Given the description of an element on the screen output the (x, y) to click on. 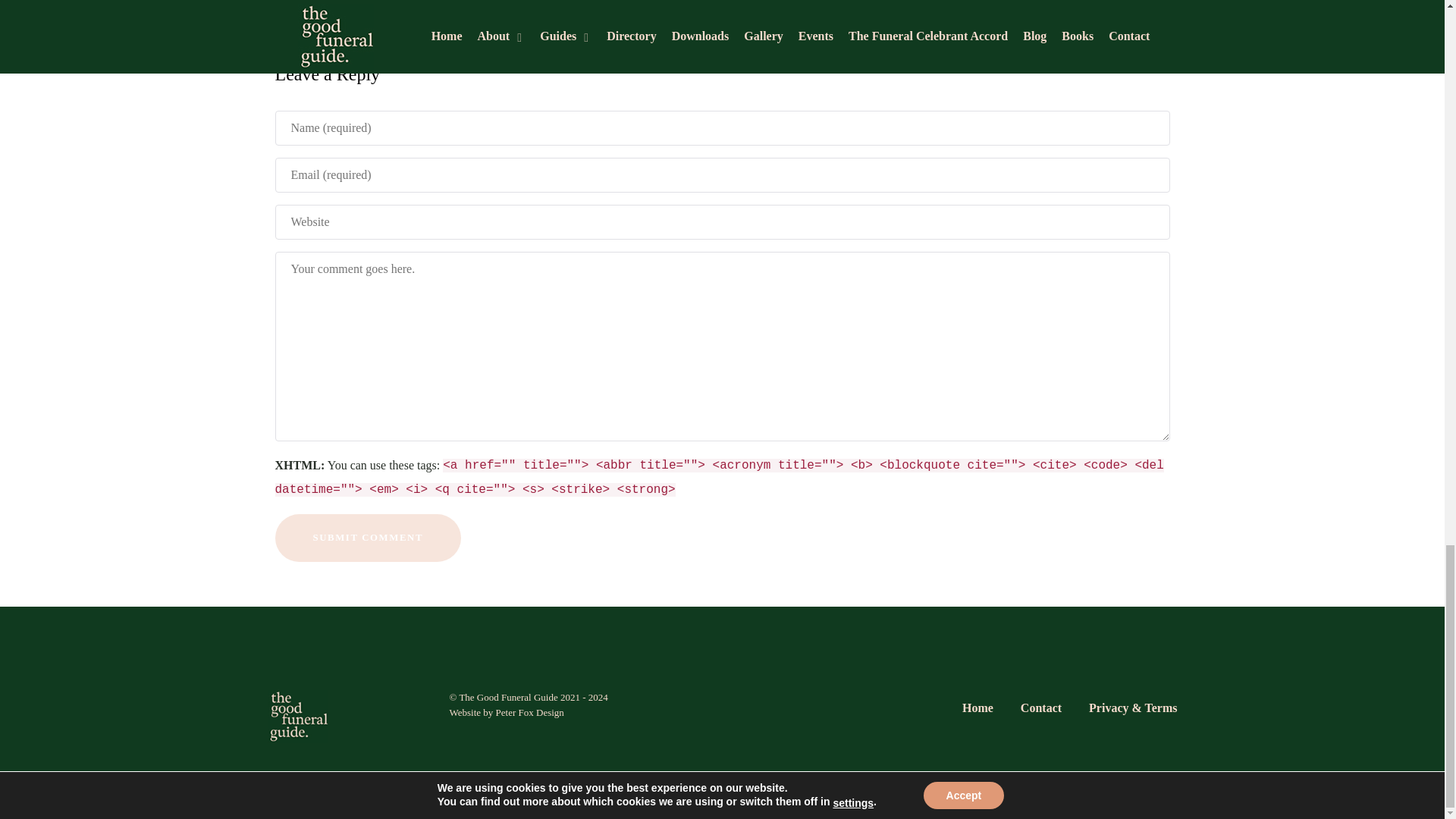
Contact (1040, 711)
Submit Comment (368, 537)
Home (977, 711)
